Given the description of an element on the screen output the (x, y) to click on. 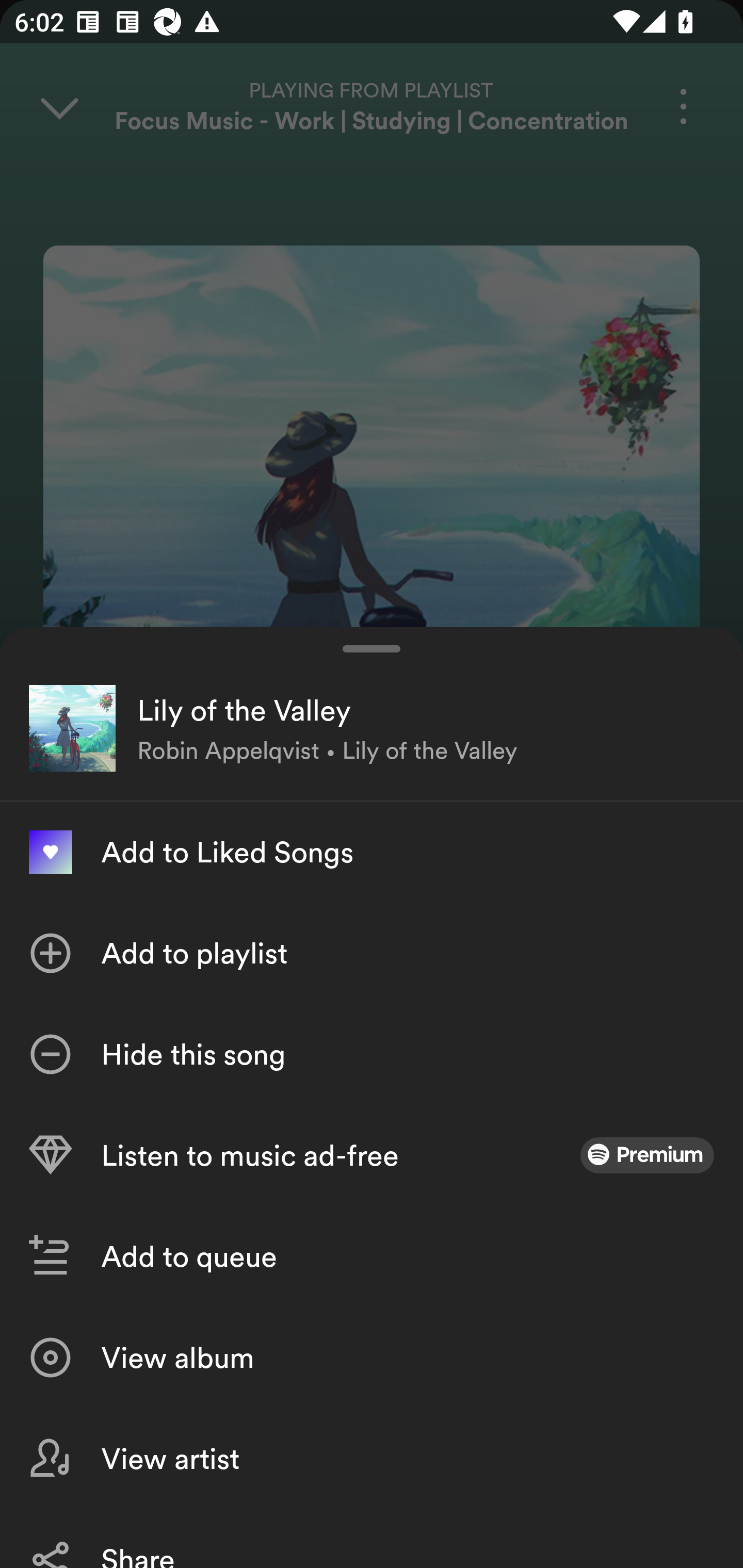
Add to Liked Songs (371, 852)
Add to playlist (371, 953)
Hide this song (371, 1054)
Listen to music ad-free (371, 1155)
Add to queue (371, 1256)
View album (371, 1357)
View artist (371, 1458)
Share (371, 1538)
